Given the description of an element on the screen output the (x, y) to click on. 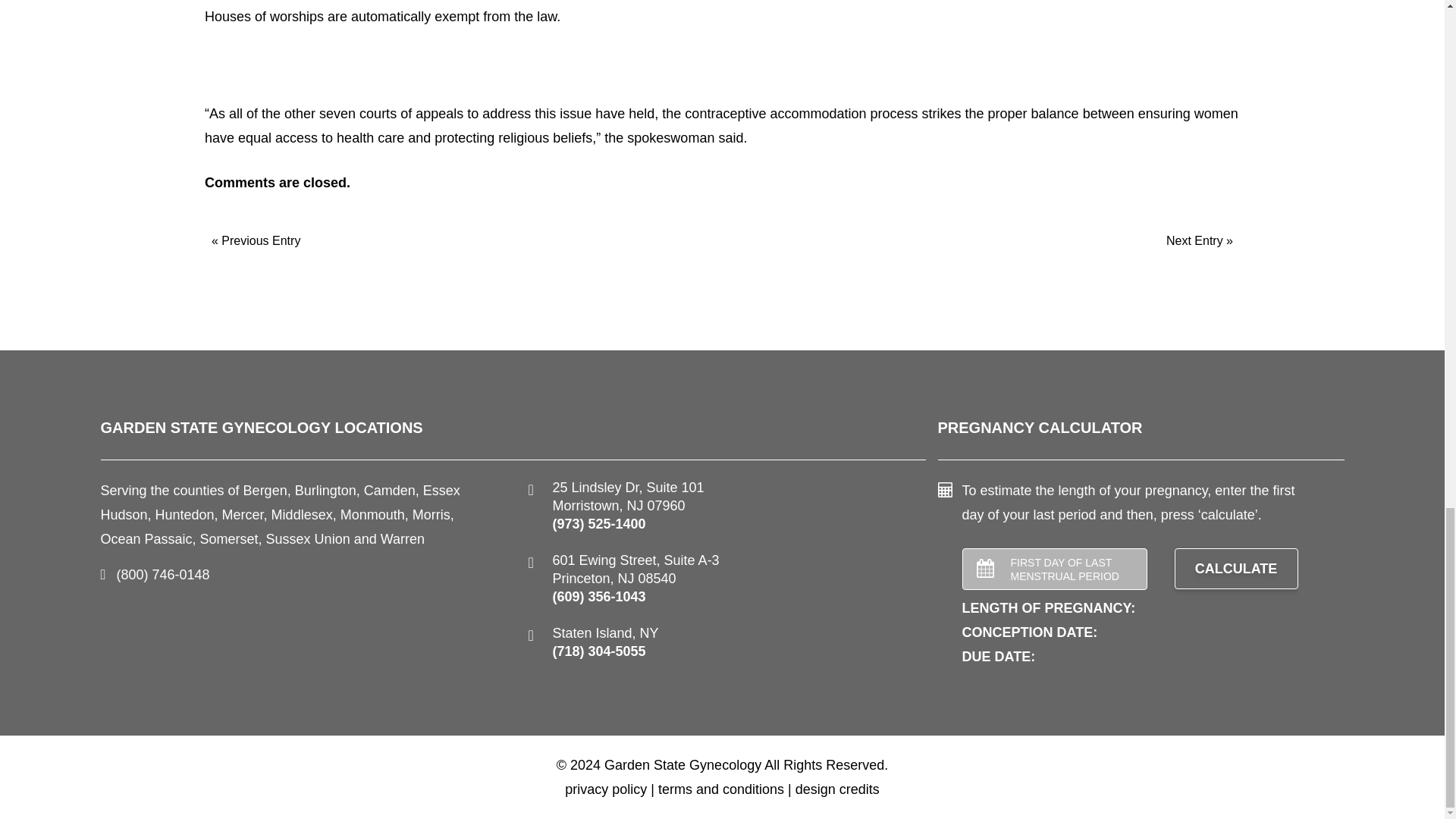
Calculate (1235, 567)
